Given the description of an element on the screen output the (x, y) to click on. 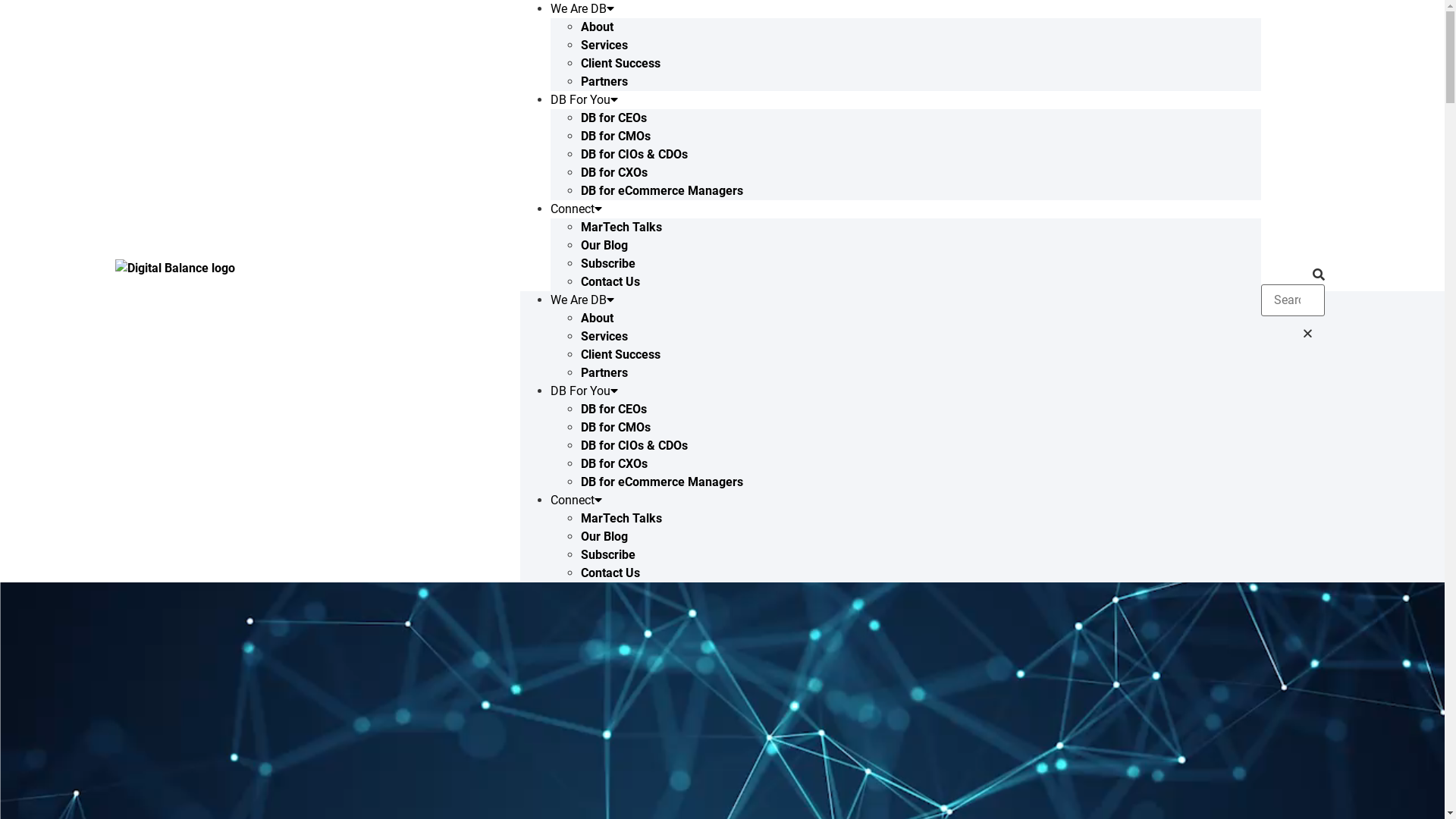
Connect Element type: text (576, 208)
About Element type: text (596, 26)
Connect Element type: text (576, 499)
DB For You Element type: text (584, 99)
DB for CMOs Element type: text (615, 426)
Subscribe Element type: text (607, 554)
MarTech Talks Element type: text (621, 226)
DB for CIOs & CDOs Element type: text (633, 153)
Partners Element type: text (603, 81)
Services Element type: text (603, 44)
Subscribe Element type: text (607, 263)
We Are DB Element type: text (582, 299)
Contact Us Element type: text (610, 572)
Client Success Element type: text (620, 62)
DB for CEOs Element type: text (613, 117)
Contact Us Element type: text (610, 281)
About Element type: text (596, 317)
Our Blog Element type: text (603, 536)
DB for CEOs Element type: text (613, 408)
DB for CXOs Element type: text (613, 463)
DB For You Element type: text (584, 390)
DB for CIOs & CDOs Element type: text (633, 445)
Client Success Element type: text (620, 354)
Our Blog Element type: text (603, 244)
DB for eCommerce Managers Element type: text (661, 190)
Partners Element type: text (603, 372)
DB for CXOs Element type: text (613, 172)
Services Element type: text (603, 335)
MarTech Talks Element type: text (621, 517)
DB for eCommerce Managers Element type: text (661, 481)
DB for CMOs Element type: text (615, 135)
